Given the description of an element on the screen output the (x, y) to click on. 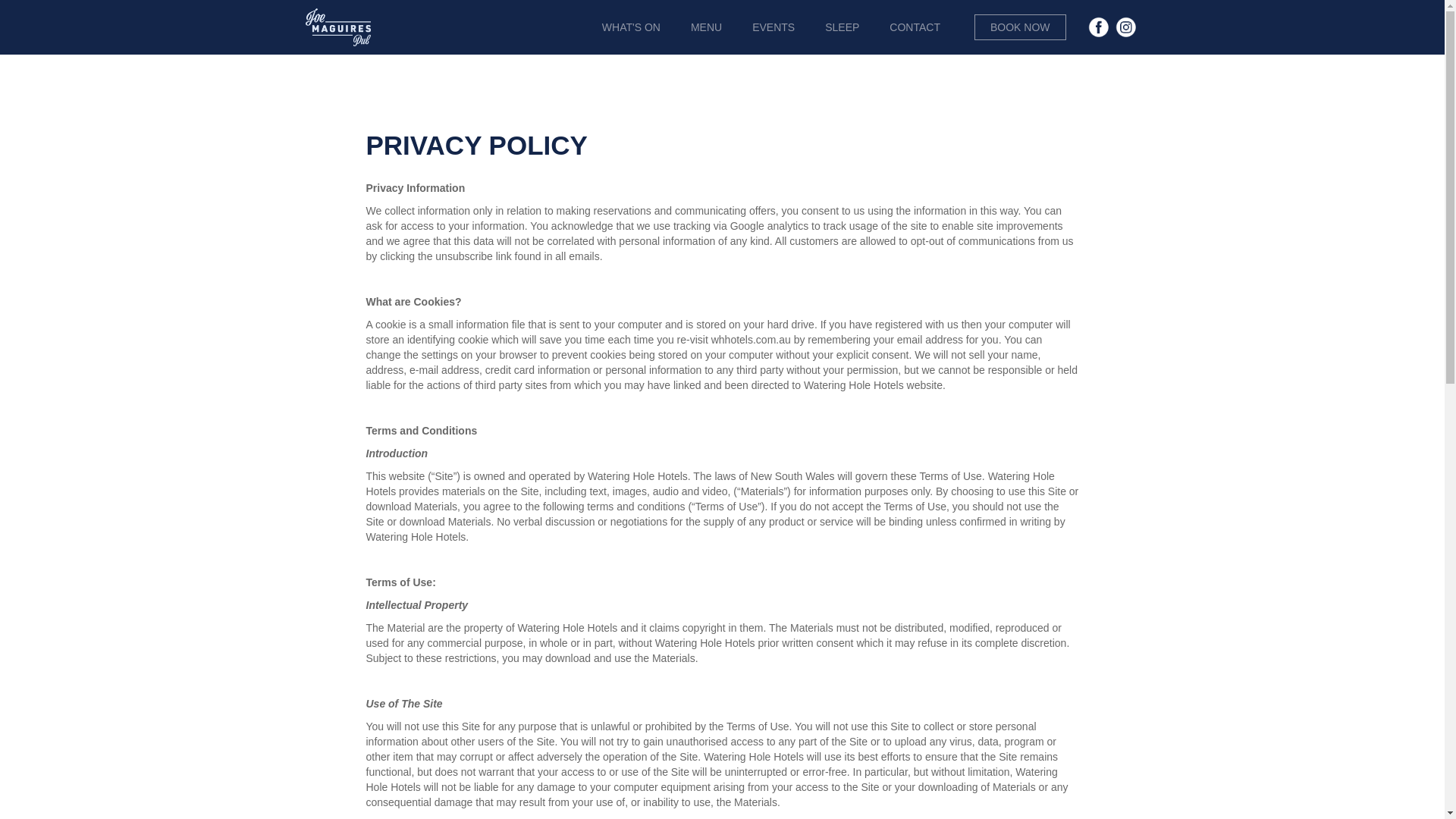
BOOK NOW Element type: text (1020, 27)
EVENTS Element type: text (773, 27)
WHAT'S ON Element type: text (630, 27)
MENU Element type: text (706, 27)
SLEEP Element type: text (841, 27)
CONTACT Element type: text (914, 27)
